Given the description of an element on the screen output the (x, y) to click on. 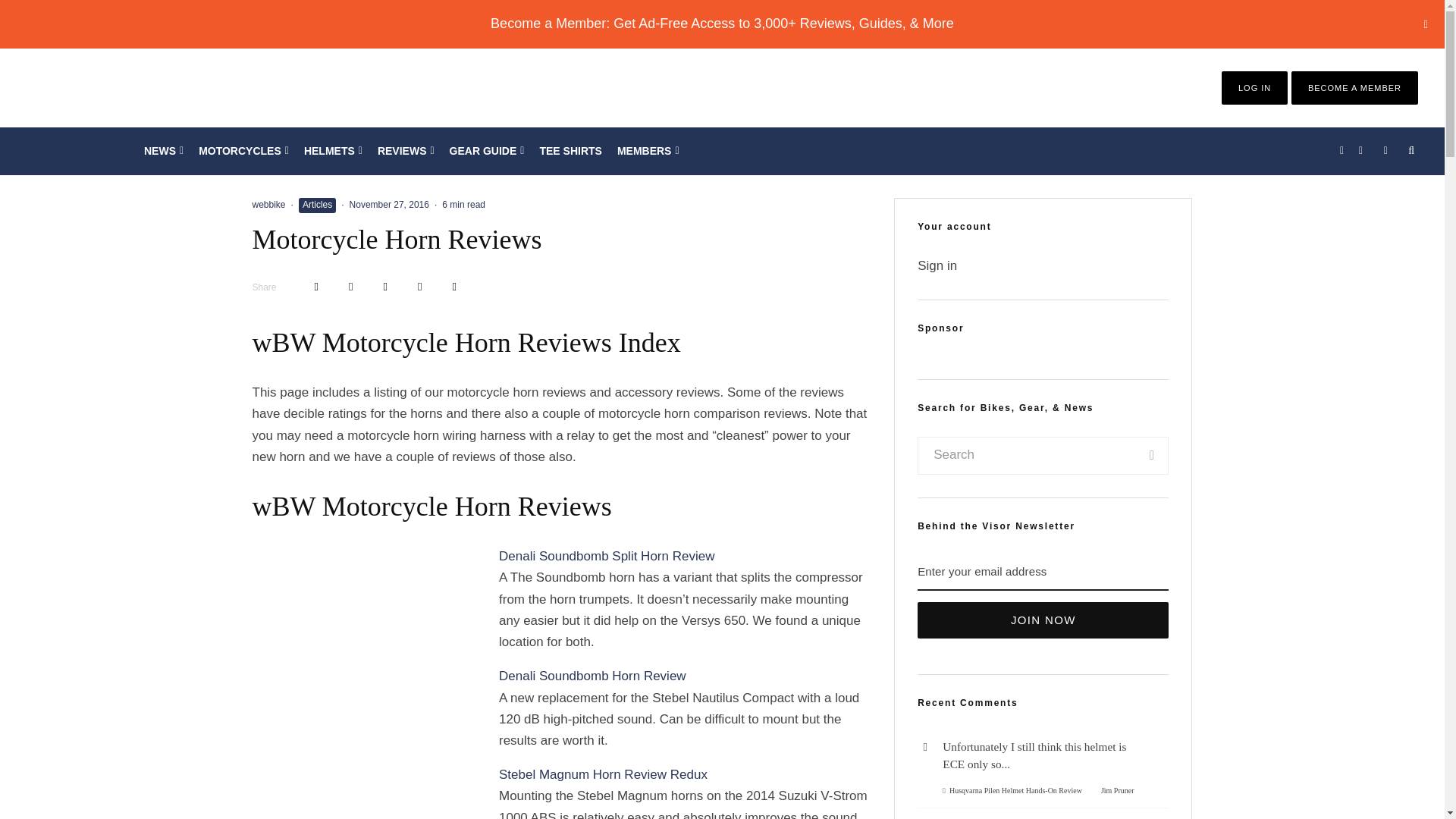
NEWS (163, 150)
LOG IN (1255, 87)
BECOME A MEMBER (1353, 87)
MOTORCYCLES (243, 150)
Join Now (1043, 619)
